Given the description of an element on the screen output the (x, y) to click on. 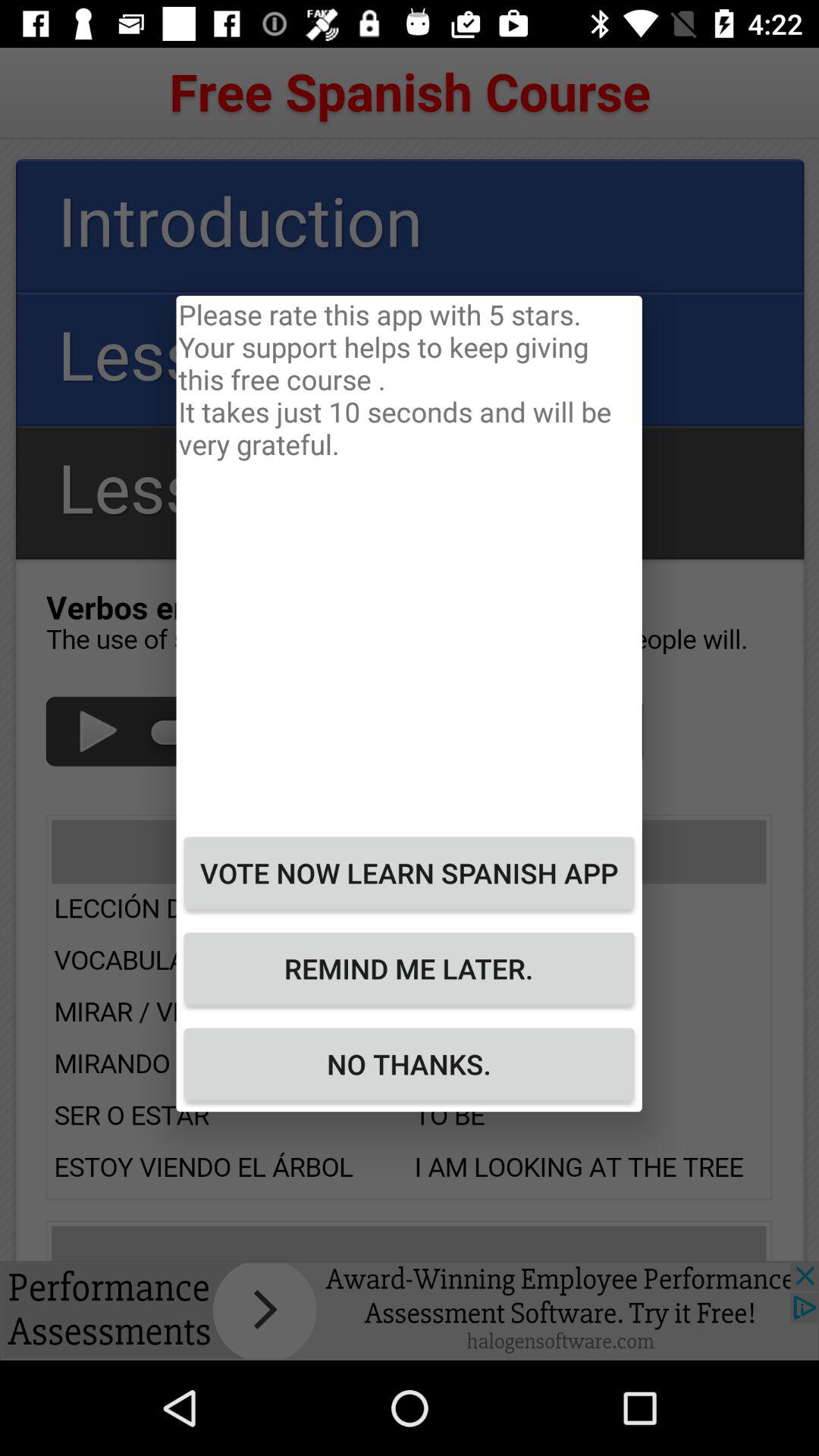
scroll to no thanks. icon (409, 1063)
